Given the description of an element on the screen output the (x, y) to click on. 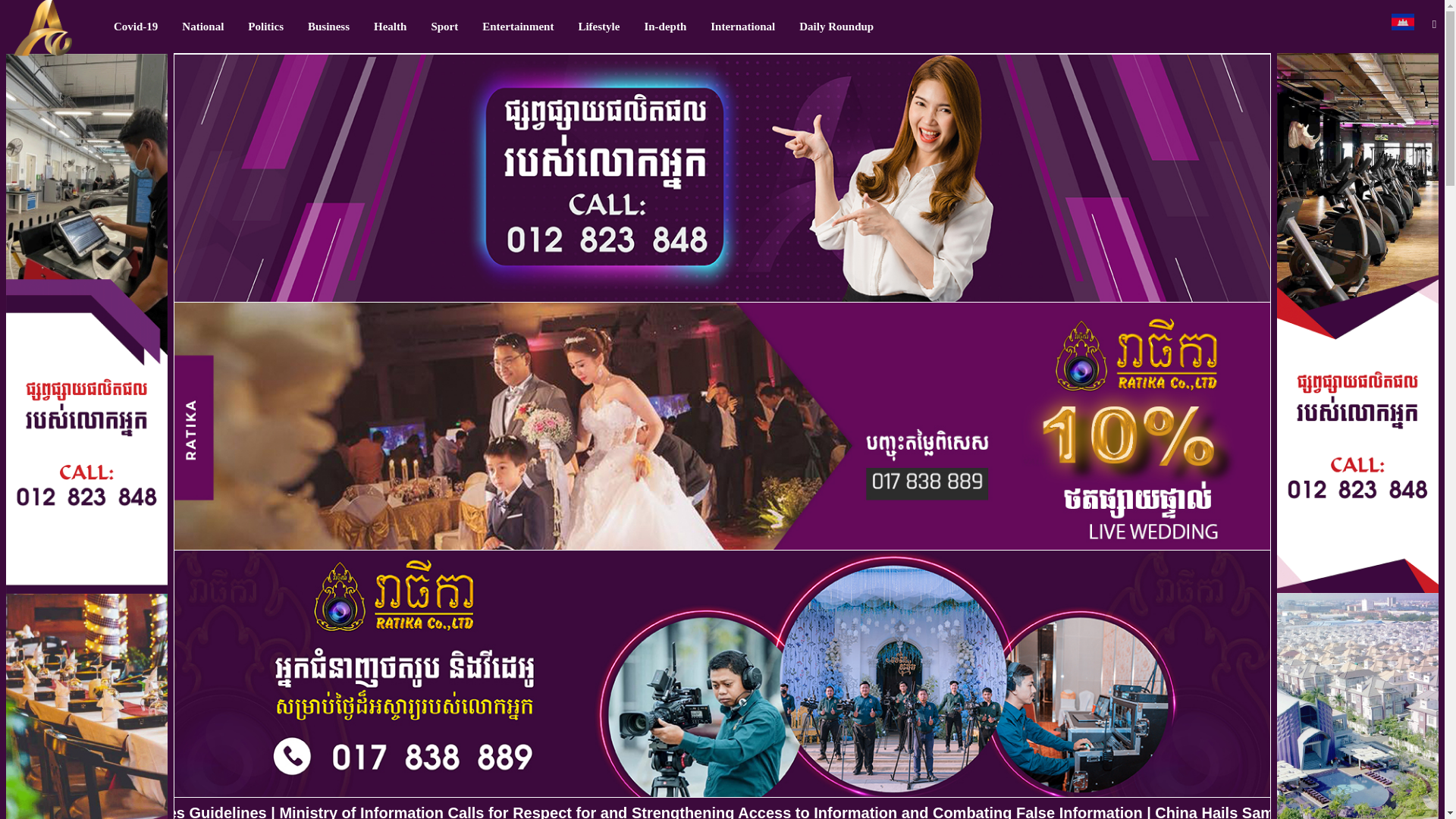
Business (328, 27)
Sport (444, 27)
Health (390, 27)
Politics (265, 27)
National (202, 27)
Entertainment (518, 27)
Covid-19 (135, 27)
In-depth (664, 27)
Lifestyle (598, 27)
